Given the description of an element on the screen output the (x, y) to click on. 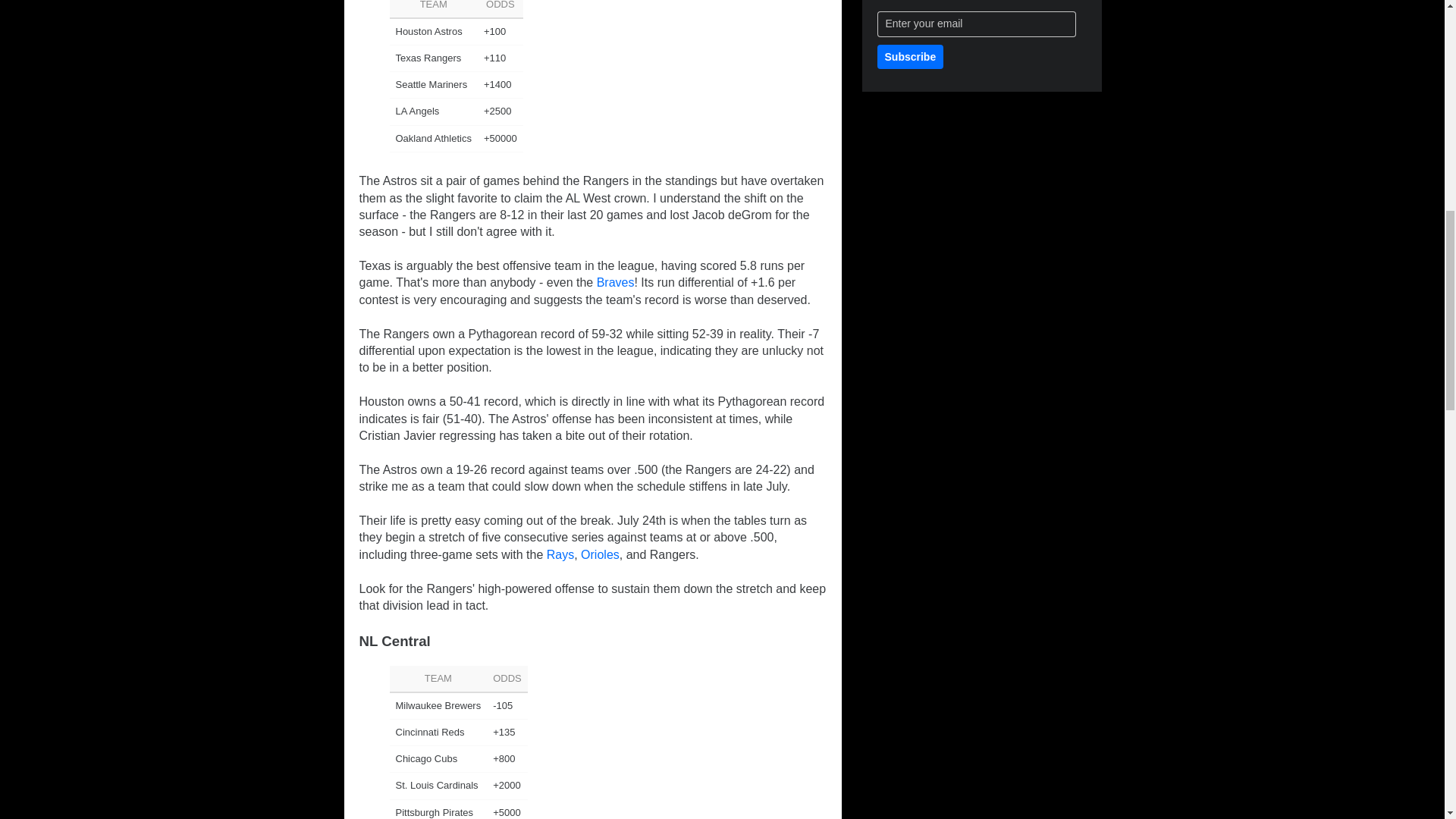
Subscribe (909, 56)
Braves (615, 282)
Orioles (600, 554)
Rays (560, 554)
